Given the description of an element on the screen output the (x, y) to click on. 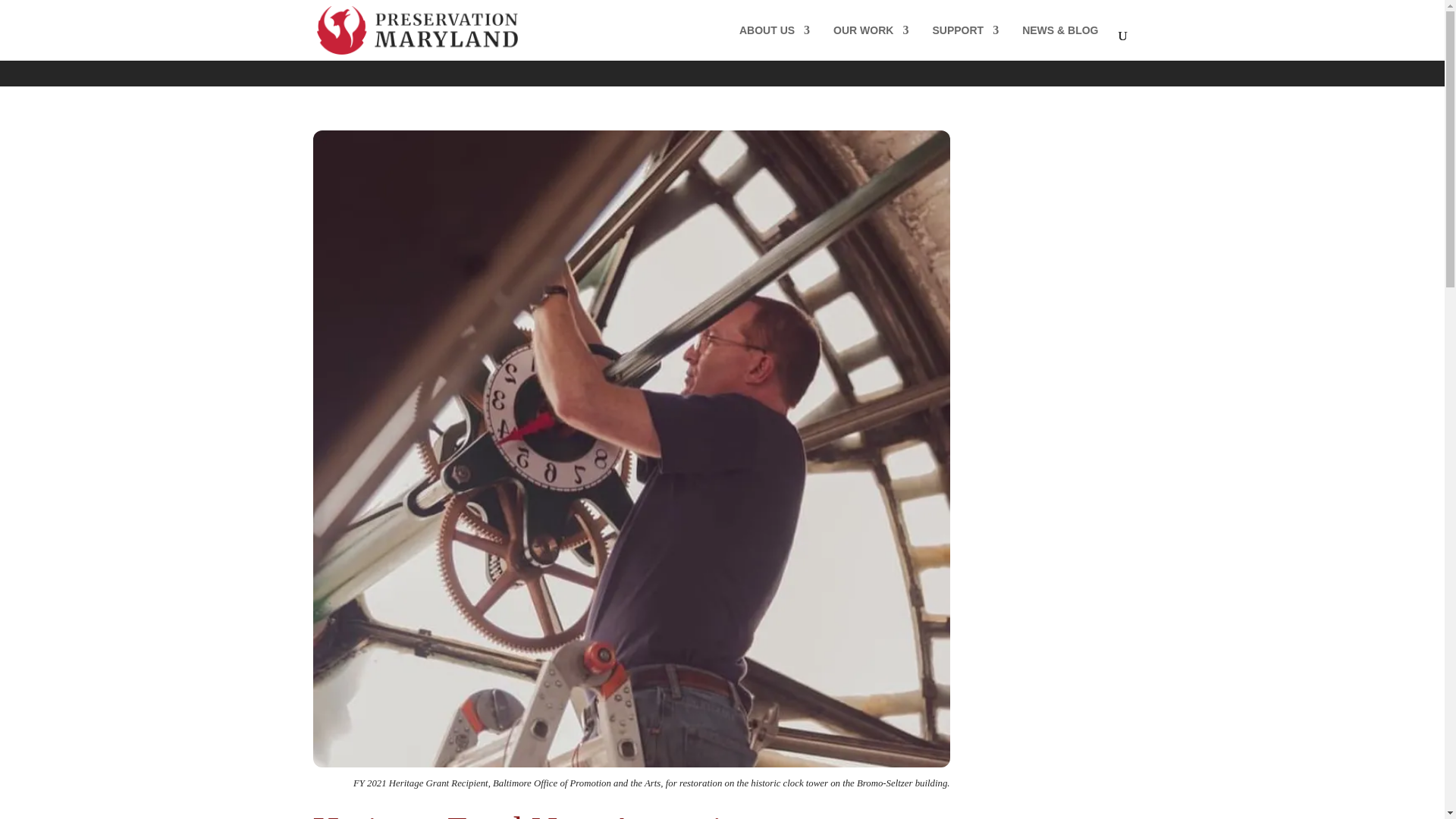
OUR WORK (870, 42)
ABOUT US (774, 42)
